Given the description of an element on the screen output the (x, y) to click on. 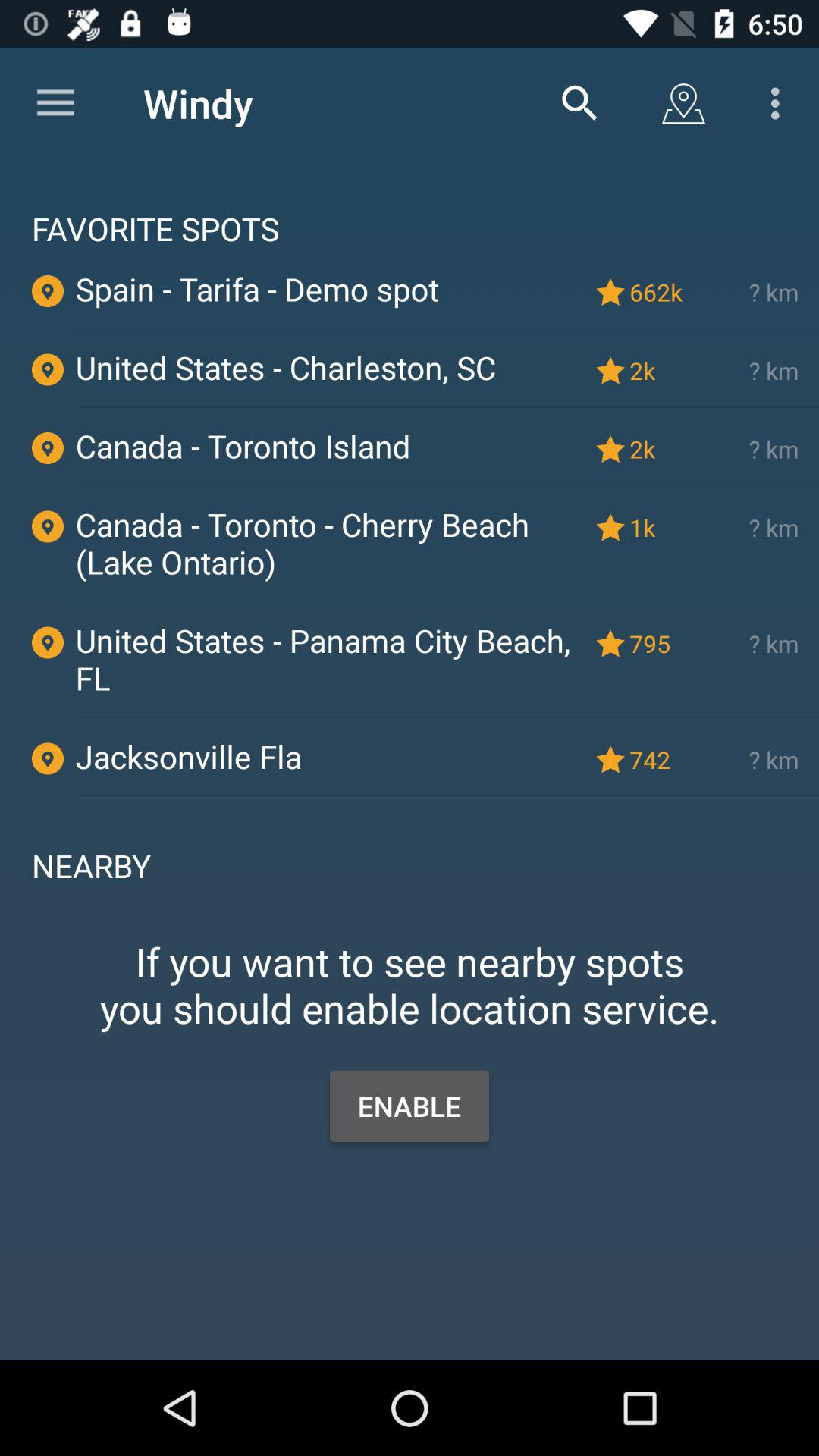
launch 1k item (659, 527)
